Given the description of an element on the screen output the (x, y) to click on. 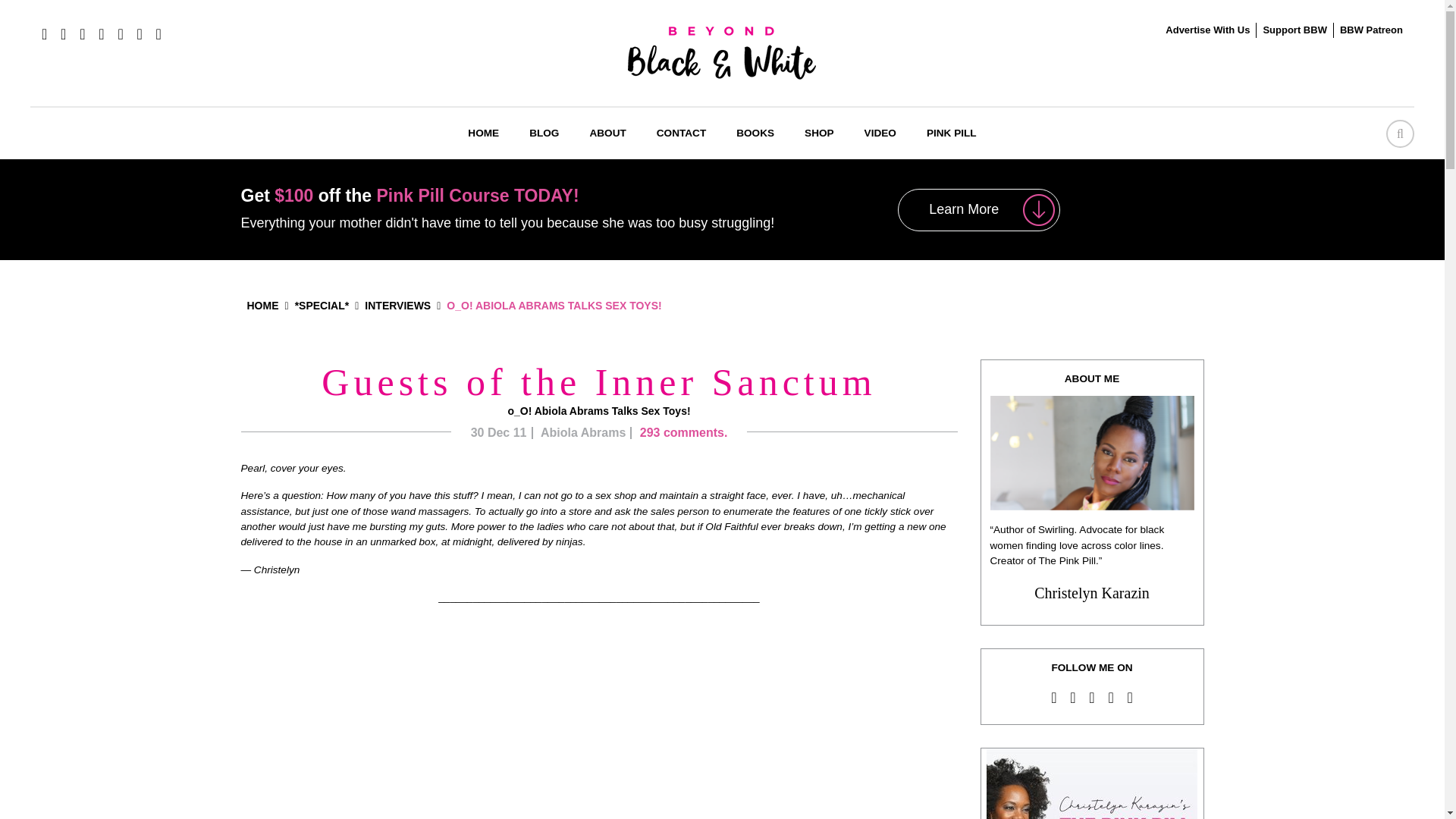
VIDEO (879, 132)
PINK PILL (951, 132)
Support BBW (1294, 30)
Advertise With Us (1207, 30)
SHOP (818, 132)
BBW Patreon (1371, 30)
BOOKS (754, 132)
HOME (482, 132)
CONTACT (681, 132)
BLOG (543, 132)
